Given the description of an element on the screen output the (x, y) to click on. 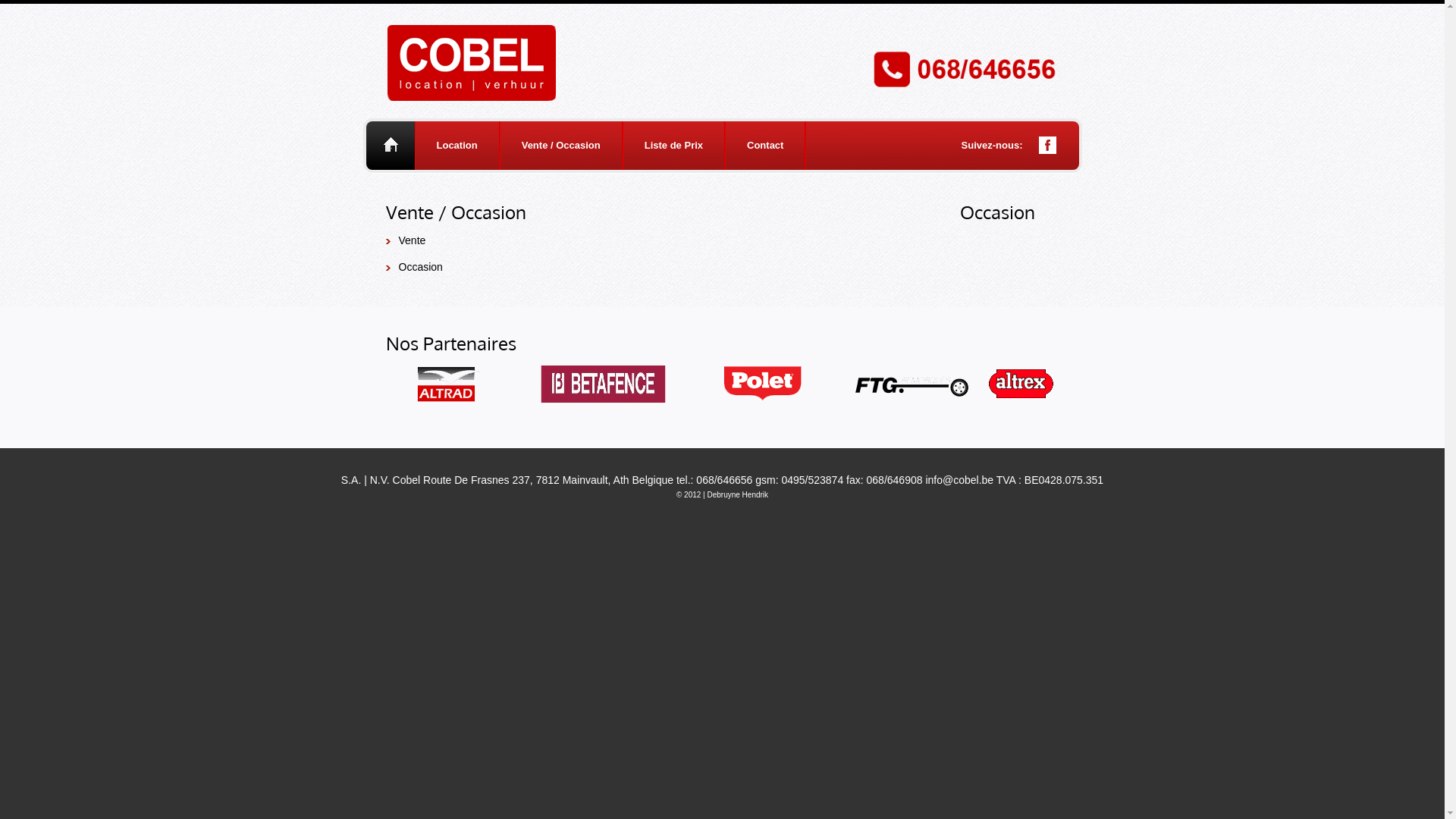
Vente Element type: text (412, 240)
Location Element type: text (456, 145)
Liste de Prix Element type: text (673, 145)
Contact Element type: text (764, 145)
info@cobel.be Element type: text (959, 479)
Vente / Occasion Element type: text (560, 145)
Occasion Element type: text (420, 266)
Debruyne Hendrik Element type: text (737, 494)
